Given the description of an element on the screen output the (x, y) to click on. 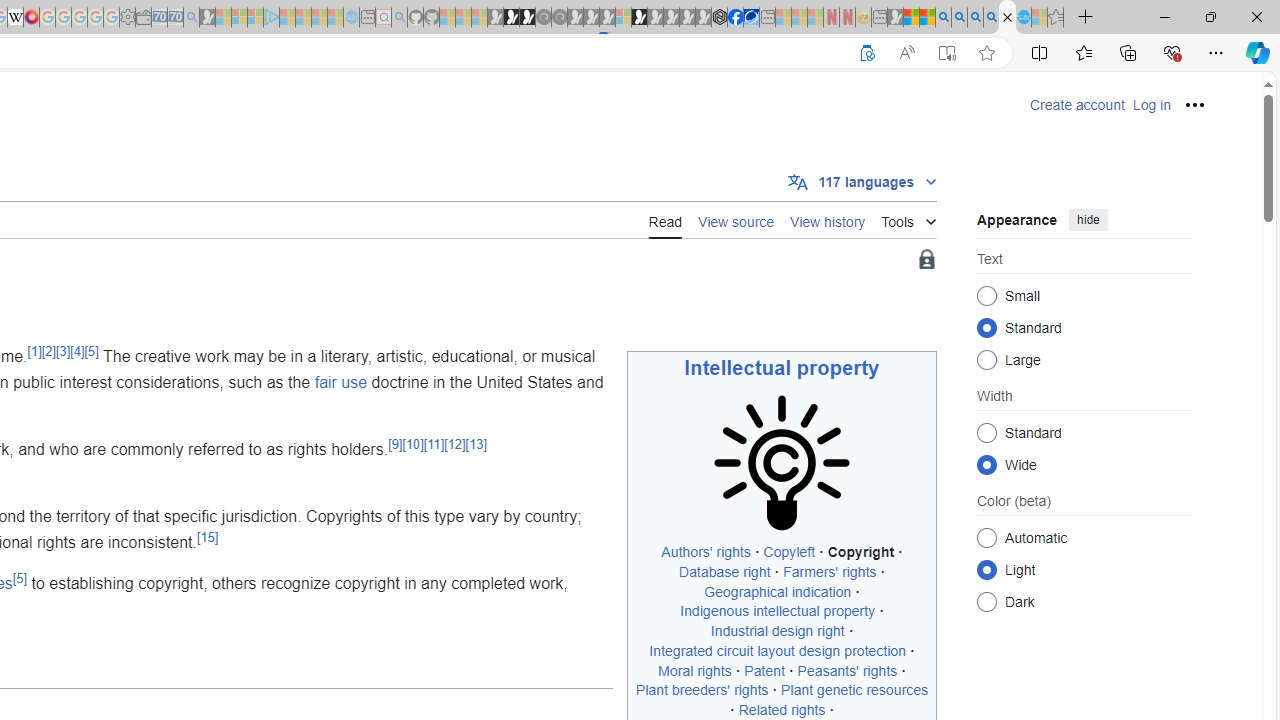
Nordace - Cooler Bags (719, 17)
To get missing image descriptions, open the context menu. (781, 462)
Cheap Car Rentals - Save70.com - Sleeping (175, 17)
To get missing image descriptions, open the context menu. (781, 462)
View source (735, 219)
[11] (433, 444)
Microsoft Start - Sleeping (319, 17)
Bing Real Estate - Home sales and rental listings - Sleeping (191, 17)
Read aloud this page (Ctrl+Shift+U) (906, 53)
